Given the description of an element on the screen output the (x, y) to click on. 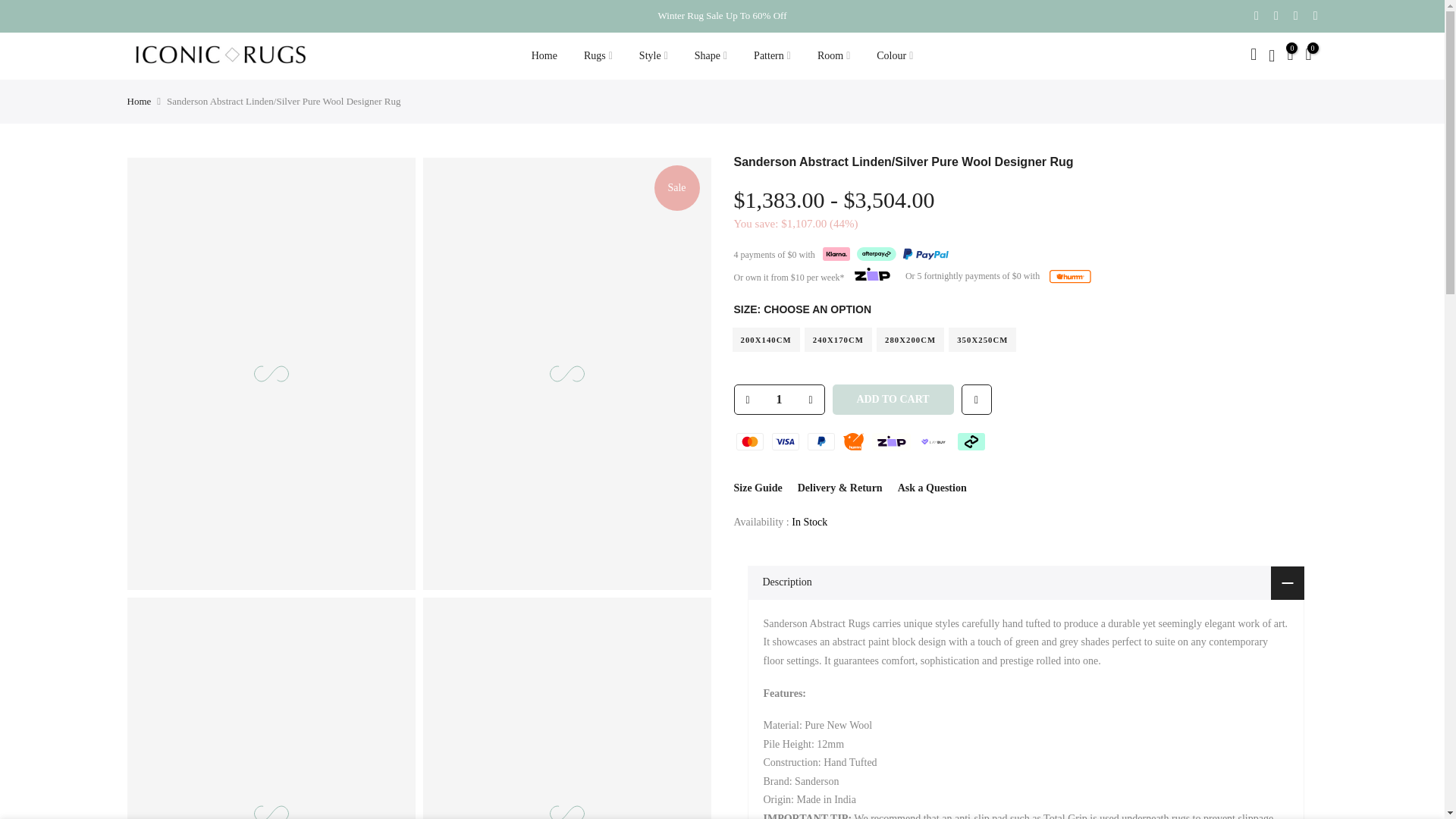
Rugs (598, 55)
Shape (710, 55)
Size Guide (758, 487)
Description (1026, 582)
0 (1289, 55)
Ask a Question (932, 487)
ADD TO CART (892, 399)
Room (833, 55)
Home (544, 55)
Home (139, 101)
